Given the description of an element on the screen output the (x, y) to click on. 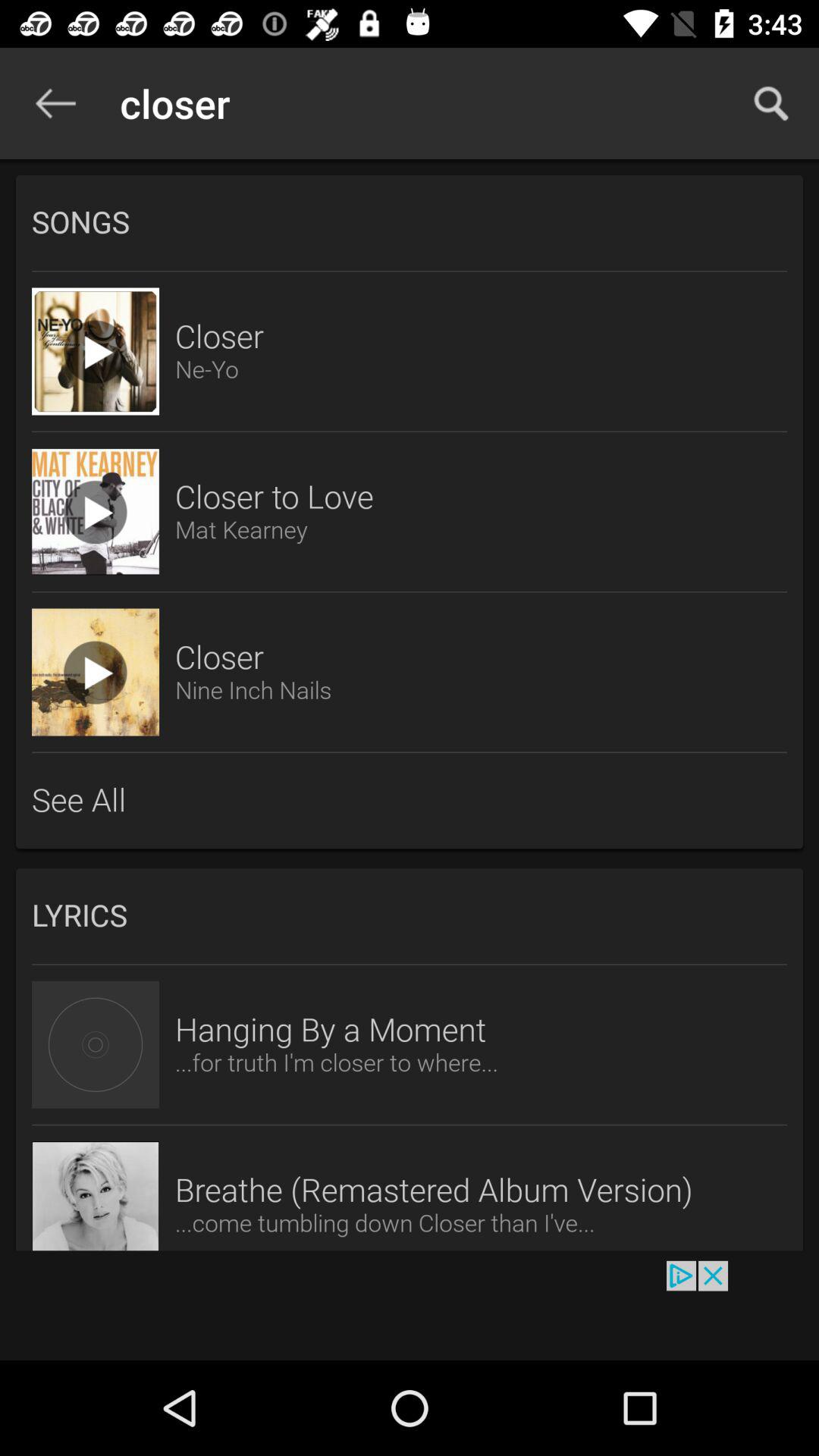
turn on item to the right of the closer item (771, 103)
